Given the description of an element on the screen output the (x, y) to click on. 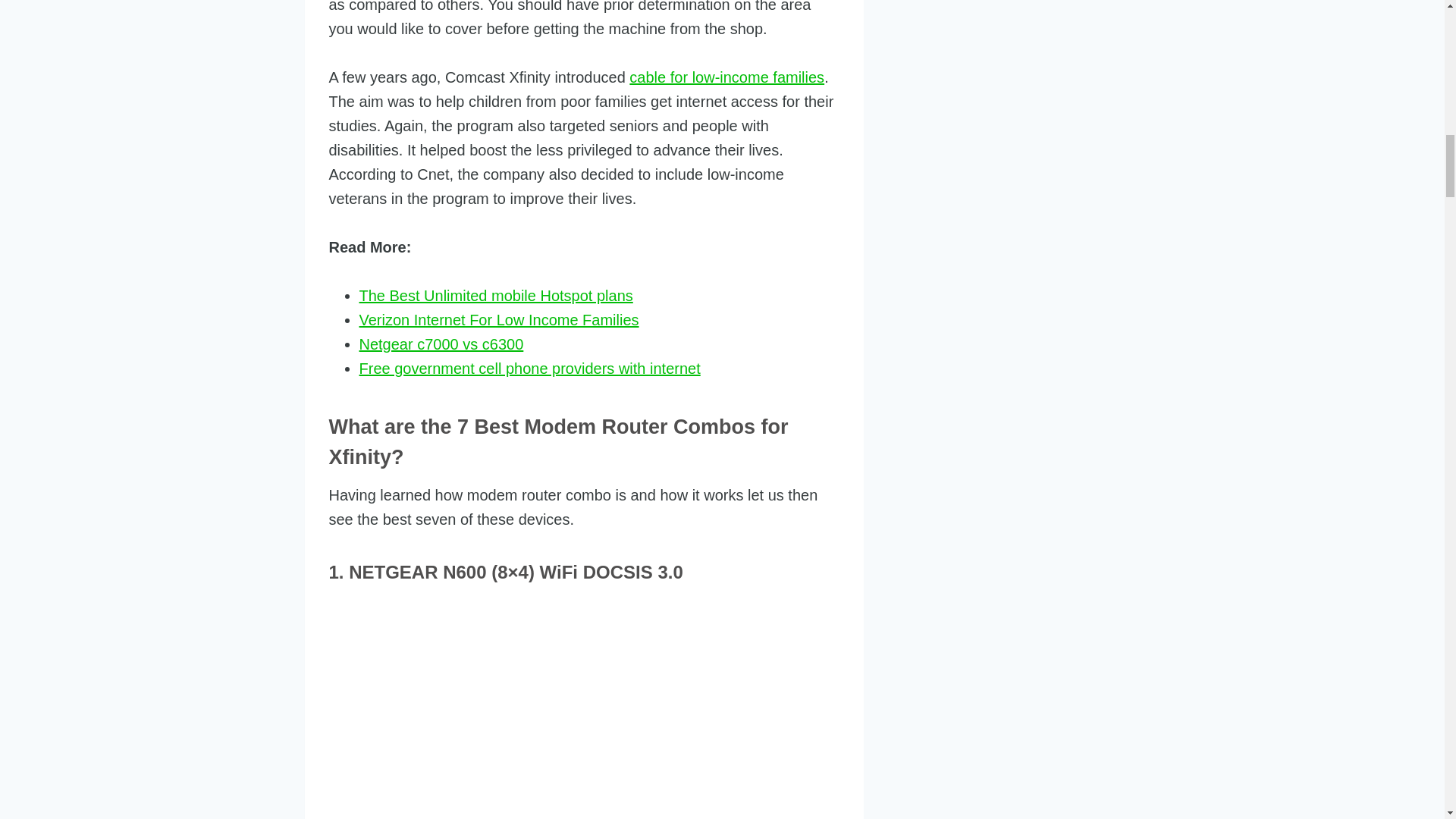
Netgear c7000 vs c6300 (441, 343)
Verizon Internet For Low Income Families (499, 320)
Free government cell phone providers with internet (529, 368)
The Best Unlimited mobile Hotspot plans (496, 295)
cable for low-income families (726, 76)
